Given the description of an element on the screen output the (x, y) to click on. 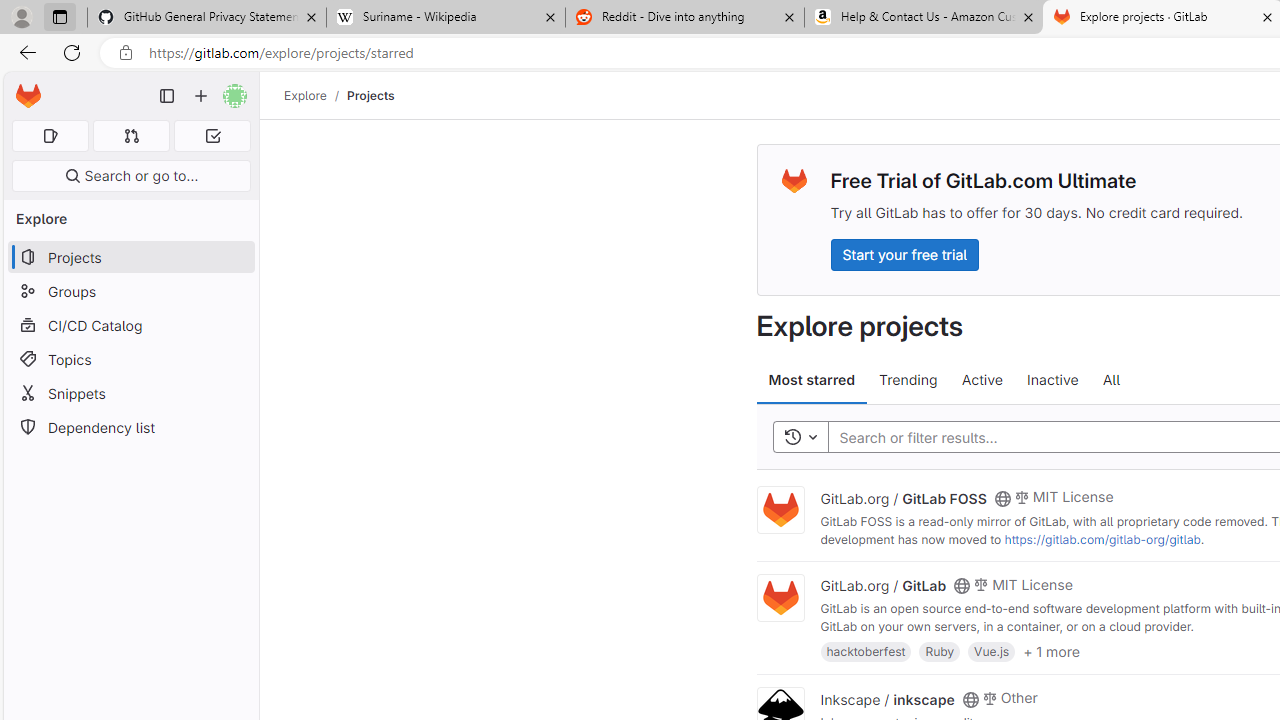
Snippets (130, 393)
GitLab.org / GitLab (883, 585)
hacktoberfest (866, 650)
Class: project (780, 597)
All (1111, 379)
Class: s16 (970, 699)
